Given the description of an element on the screen output the (x, y) to click on. 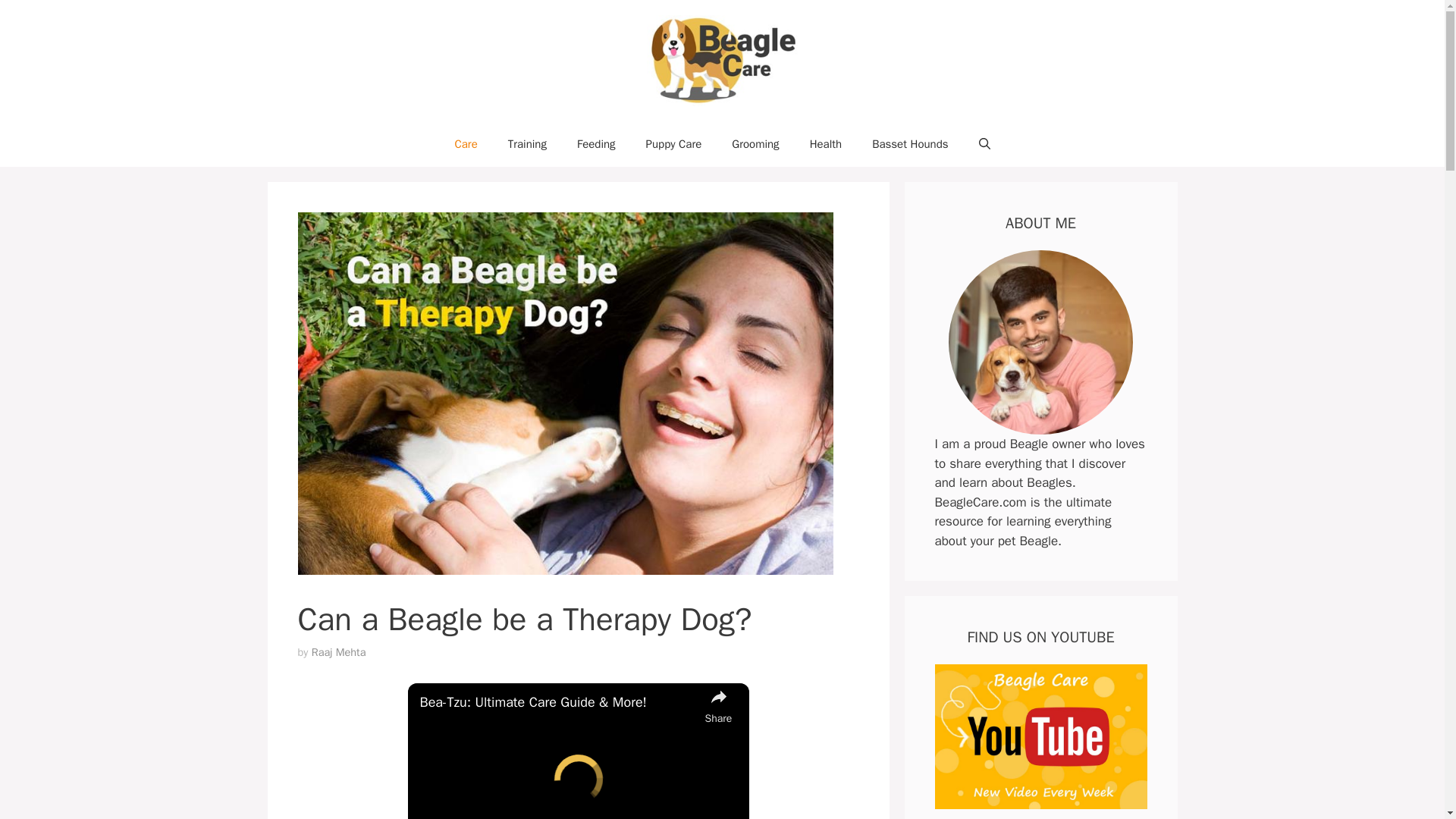
Grooming (754, 144)
Puppy Care (673, 144)
Basset Hounds (909, 144)
Care (465, 144)
Feeding (596, 144)
Health (825, 144)
Raaj Mehta (338, 652)
View all posts by Raaj Mehta (338, 652)
Training (527, 144)
